Given the description of an element on the screen output the (x, y) to click on. 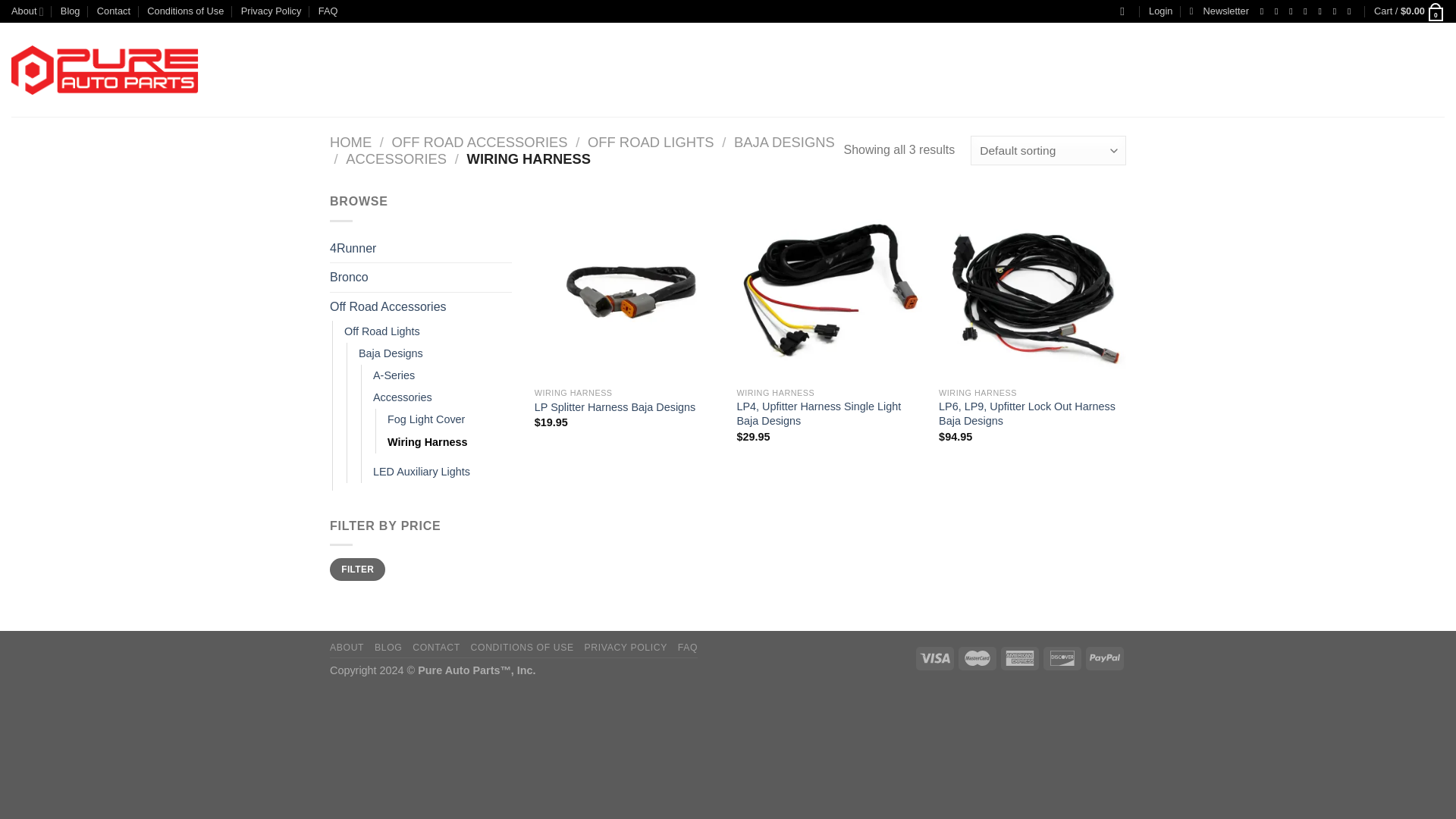
Conditions of Use (185, 11)
Contact (114, 11)
OFF ROAD LIGHTS (651, 141)
Privacy Policy (271, 11)
Off Road Lights (381, 332)
About (27, 11)
A-Series (393, 375)
Off Road Accessories (421, 306)
4Runner (421, 248)
OFF ROAD ACCESSORIES (479, 141)
